Given the description of an element on the screen output the (x, y) to click on. 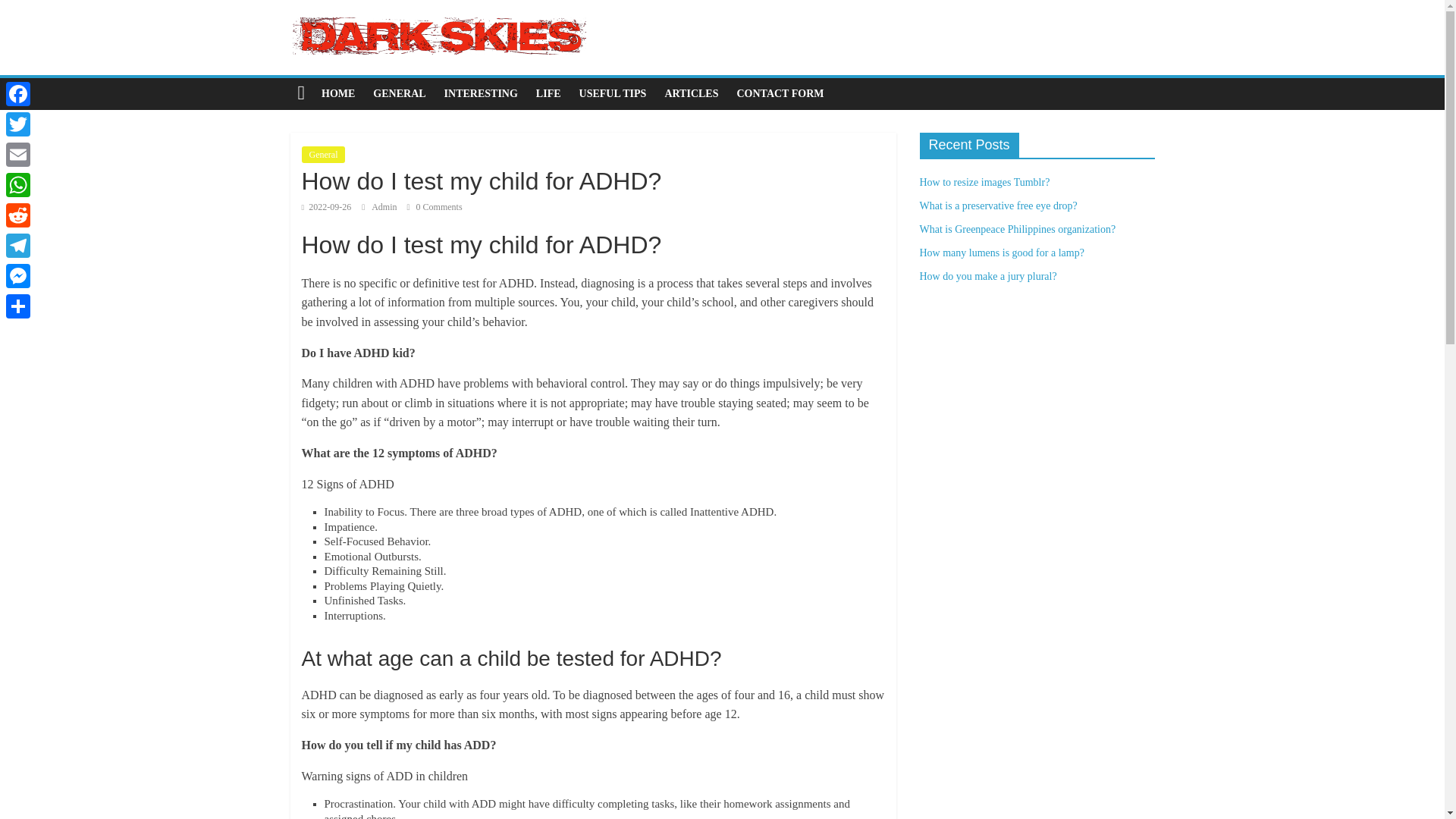
WhatsApp (17, 184)
2022-09-26 (326, 206)
Email (17, 154)
Reddit (17, 214)
Email (17, 154)
Twitter (17, 123)
Admin (384, 206)
ARTICLES (690, 92)
HOME (338, 92)
Twitter (17, 123)
Admin (384, 206)
GENERAL (398, 92)
Facebook (17, 93)
What is Greenpeace Philippines organization? (1016, 229)
LIFE (548, 92)
